Given the description of an element on the screen output the (x, y) to click on. 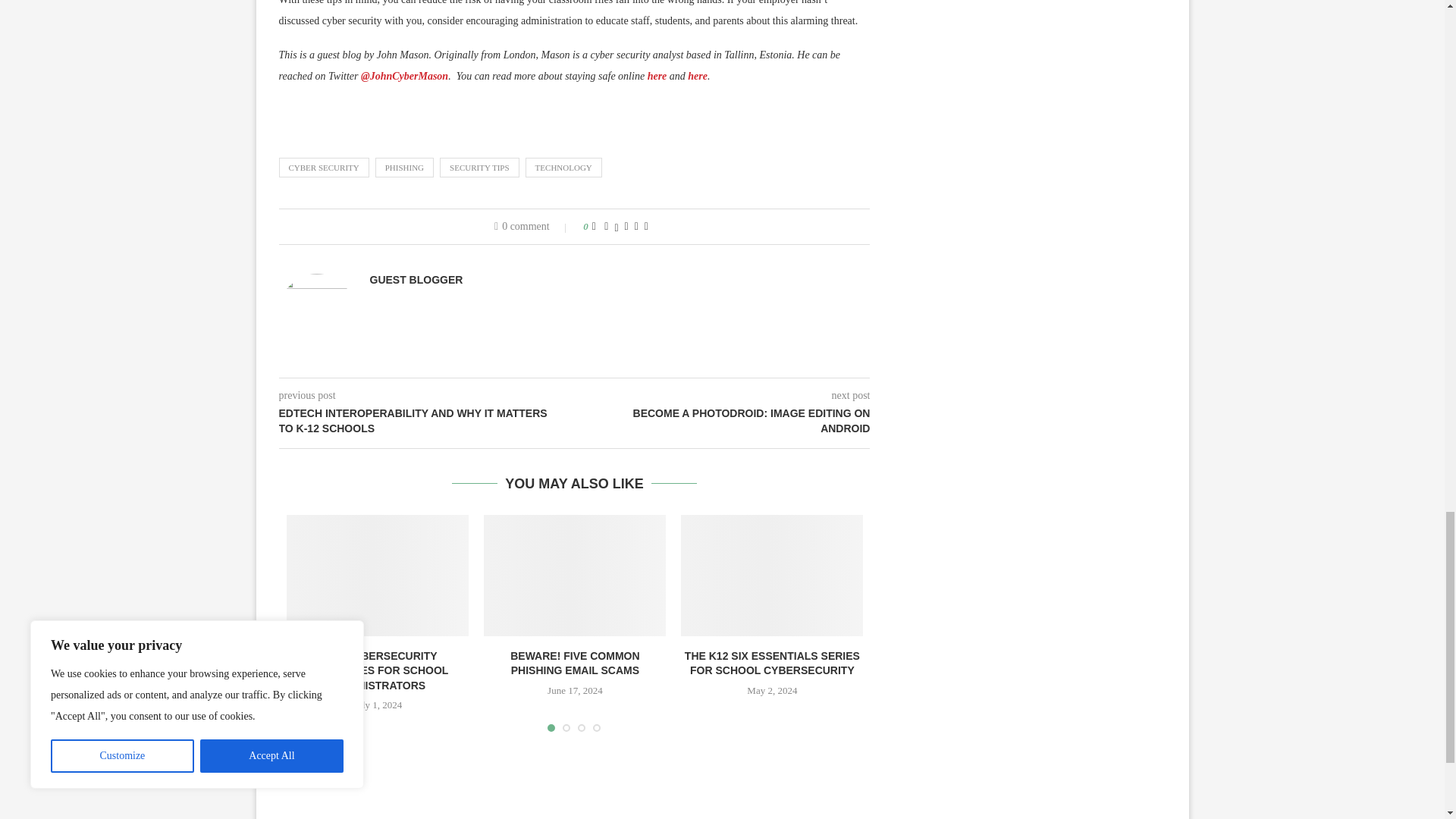
Author Guest Blogger (416, 279)
The K12 SIX Essentials Series for School Cybersecurity (772, 575)
New Cybersecurity Resources for School Administrators (377, 575)
Beware! Five Common Phishing Email Scams (574, 575)
